Given the description of an element on the screen output the (x, y) to click on. 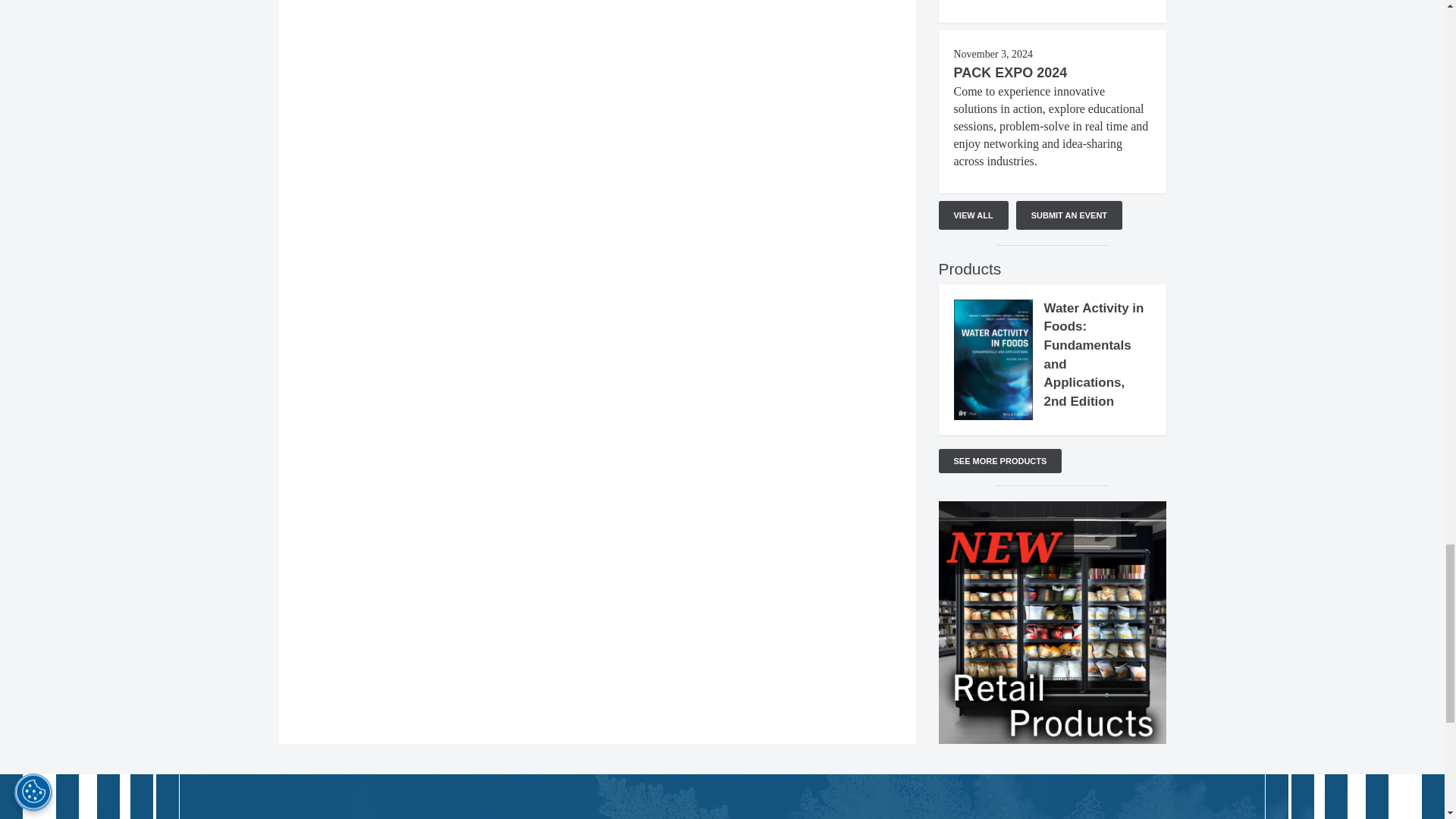
PACK EXPO 2024 (1010, 72)
